Given the description of an element on the screen output the (x, y) to click on. 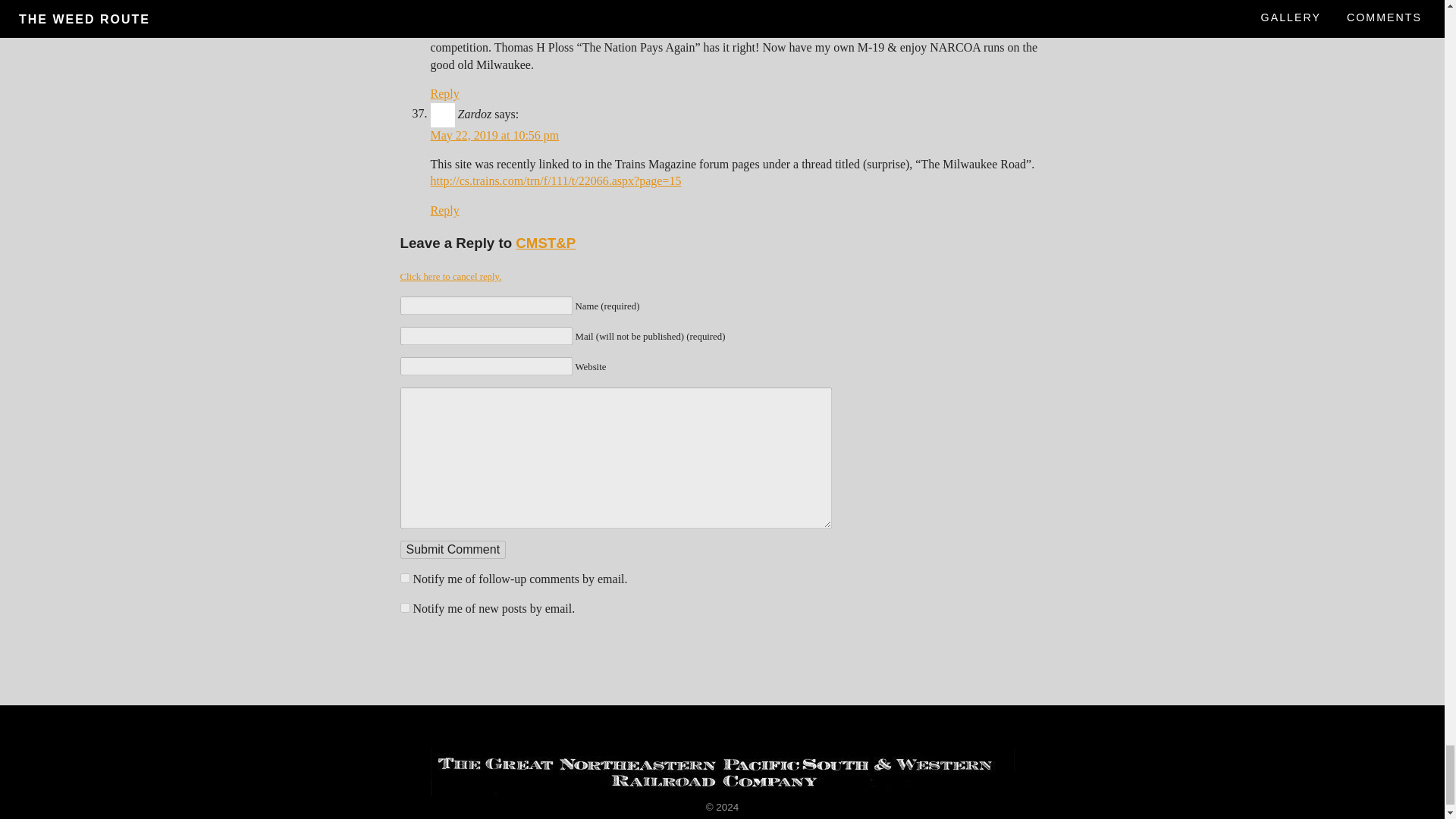
subscribe (405, 607)
subscribe (405, 578)
Submit Comment (453, 549)
